Given the description of an element on the screen output the (x, y) to click on. 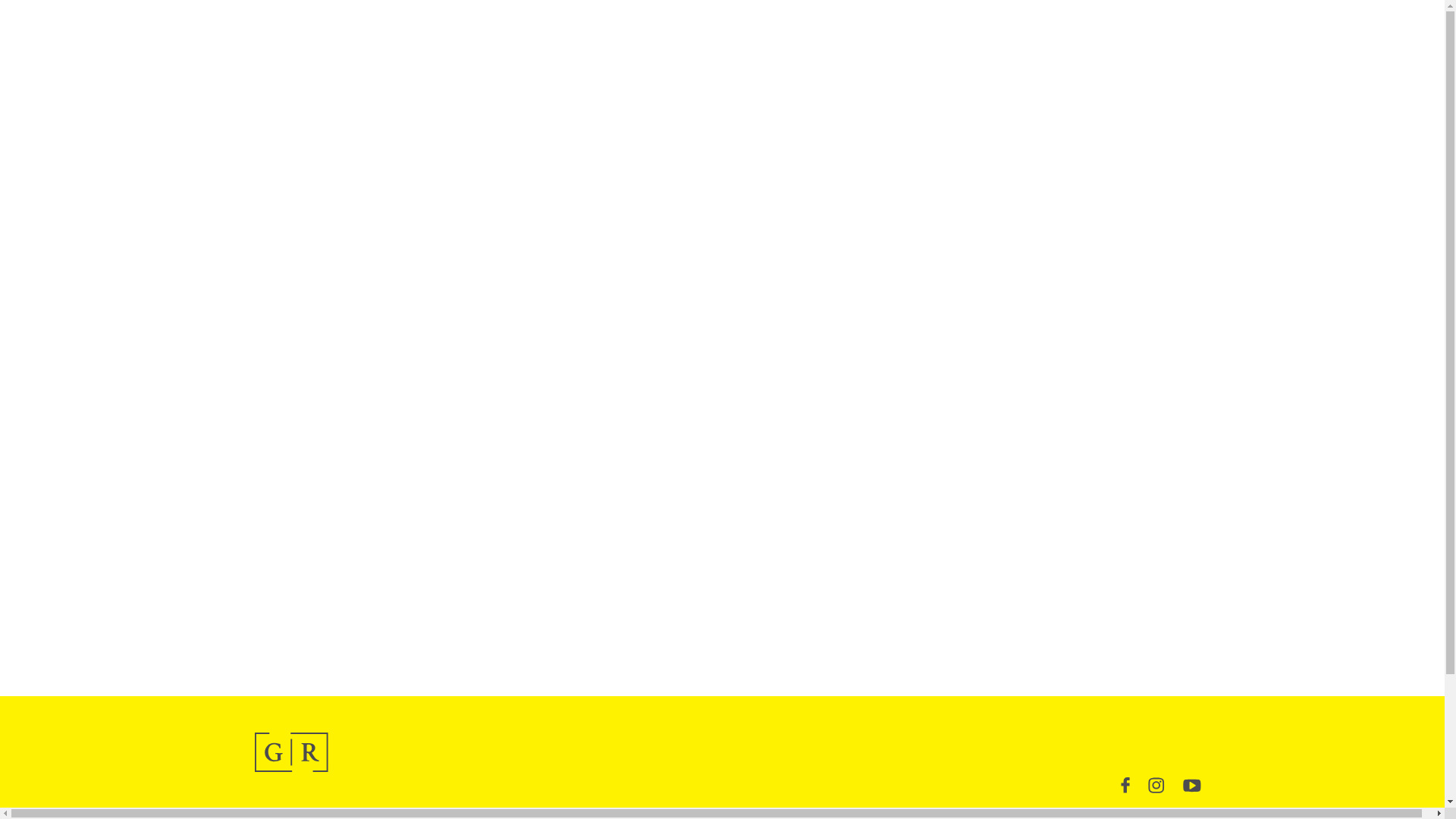
View Homepage (291, 752)
View Reviews (682, 815)
Privacy Policy (864, 815)
Complaints Procedure (968, 815)
Instant Valuation (1161, 815)
Reviews (682, 815)
Refund Policy (1071, 815)
